Given the description of an element on the screen output the (x, y) to click on. 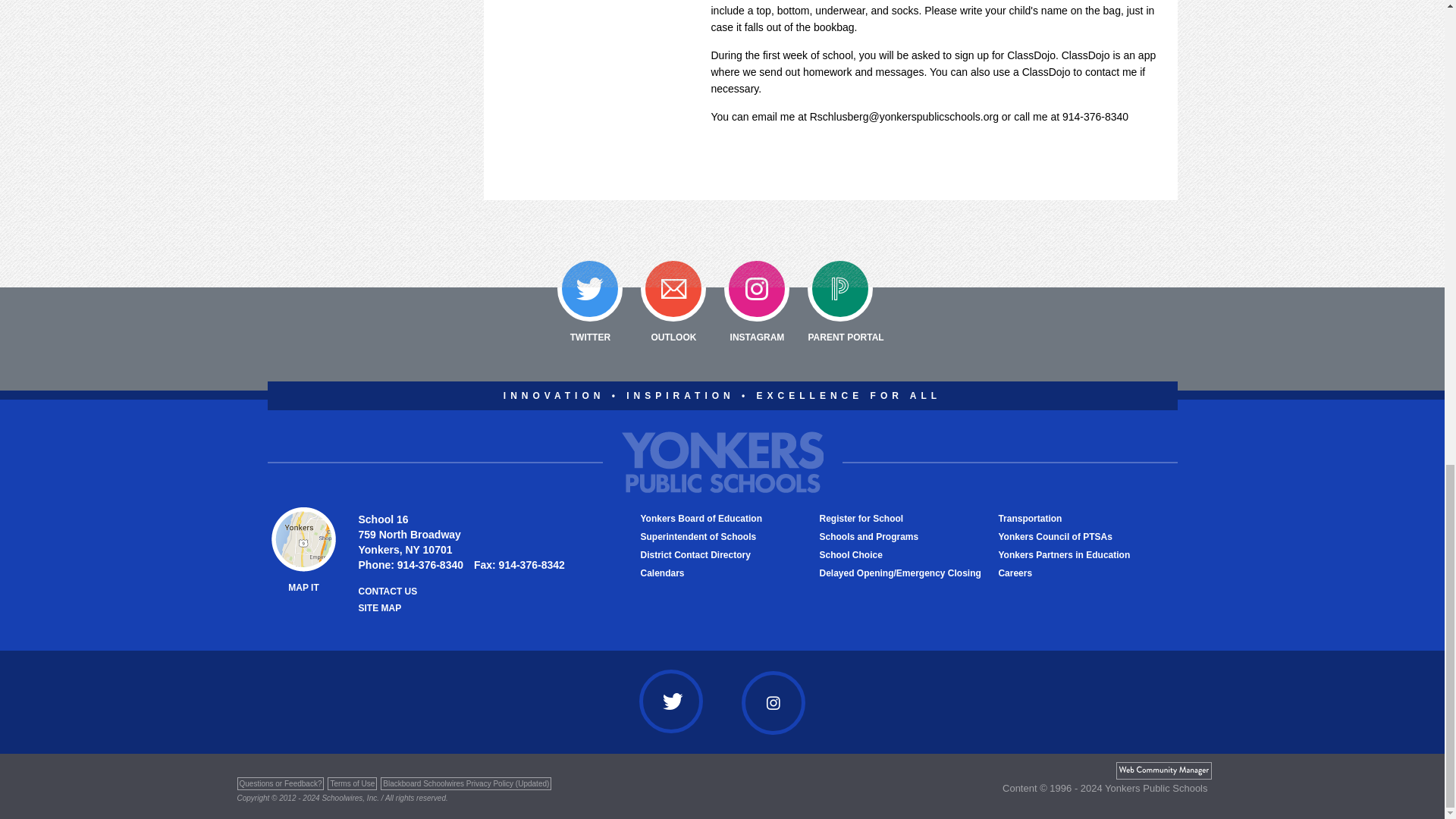
Finalsite - all rights reserved (1163, 770)
